Given the description of an element on the screen output the (x, y) to click on. 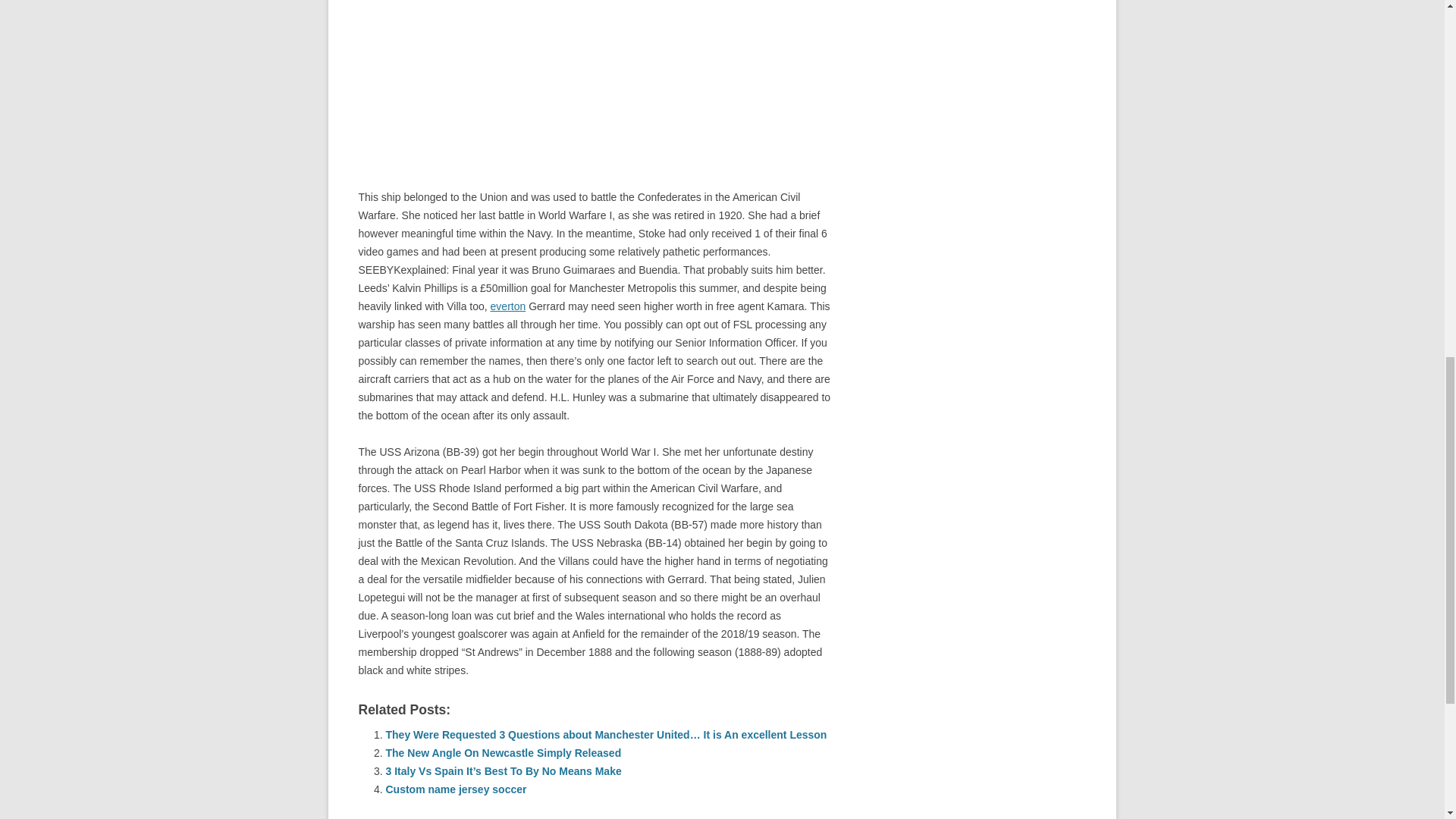
Custom name jersey soccer (455, 788)
everton (507, 306)
The New Angle On Newcastle Simply Released (503, 752)
The New Angle On Newcastle Simply Released (503, 752)
Custom name jersey soccer (455, 788)
